Given the description of an element on the screen output the (x, y) to click on. 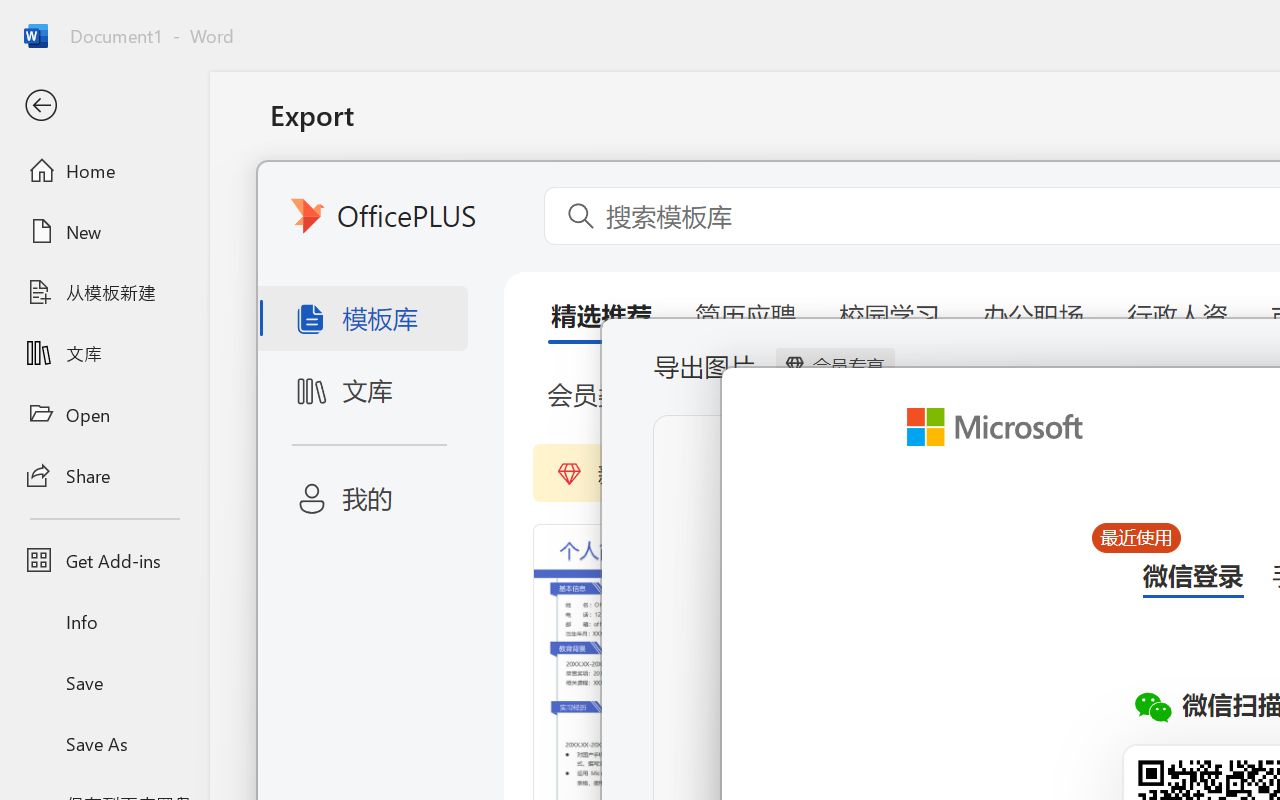
Back (104, 106)
Change File Type (507, 291)
Create PDF/XPS Document (507, 205)
